Given the description of an element on the screen output the (x, y) to click on. 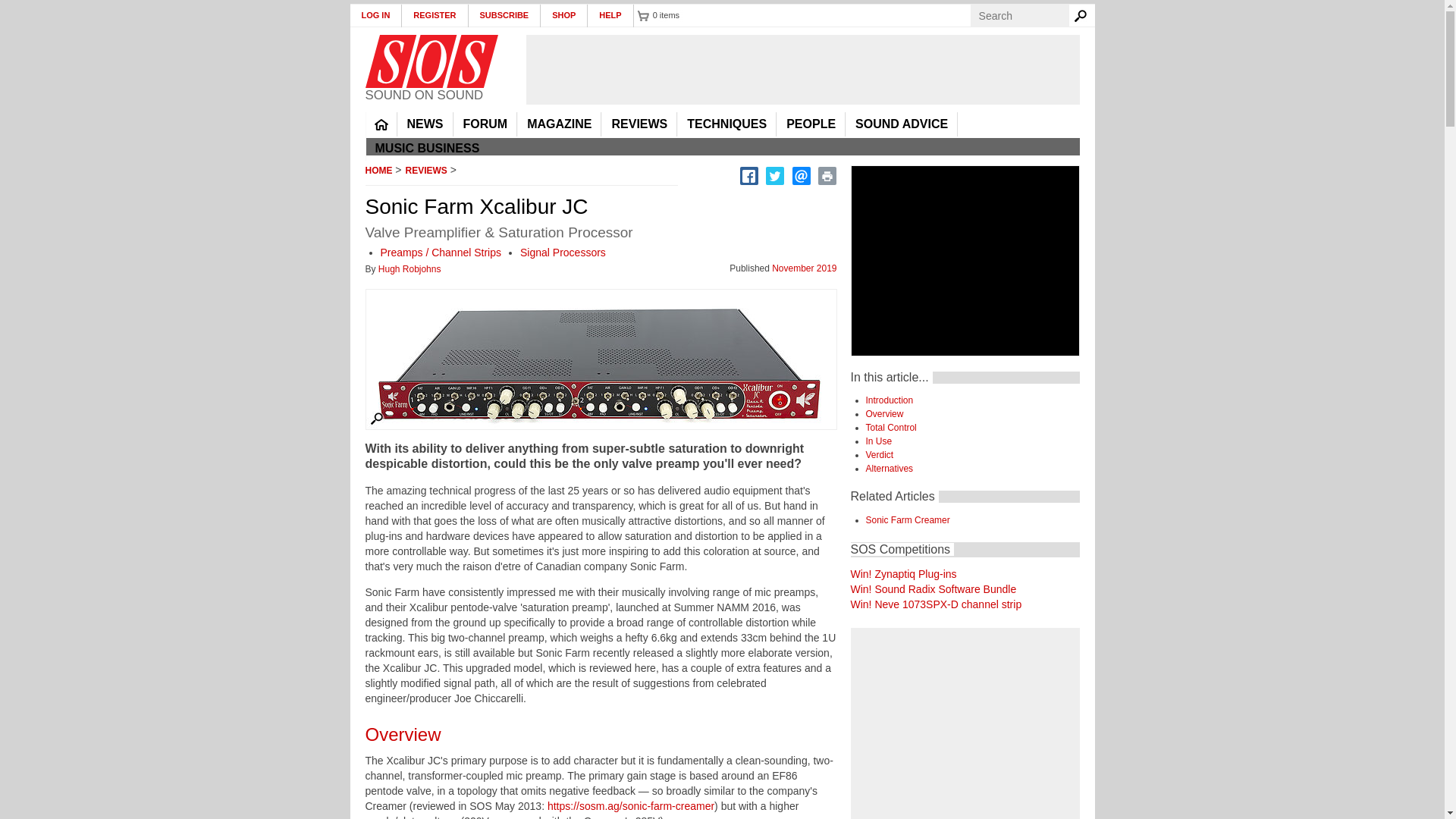
SUBSCRIBE (504, 15)
Search (1082, 15)
LOG IN (376, 15)
REGISTER (434, 15)
Search (1082, 15)
MAGAZINE (558, 124)
FORUM (484, 124)
SHOP (564, 15)
Home (431, 61)
HELP (610, 15)
NEWS (424, 124)
HOME (380, 124)
3rd party ad content (801, 70)
